Given the description of an element on the screen output the (x, y) to click on. 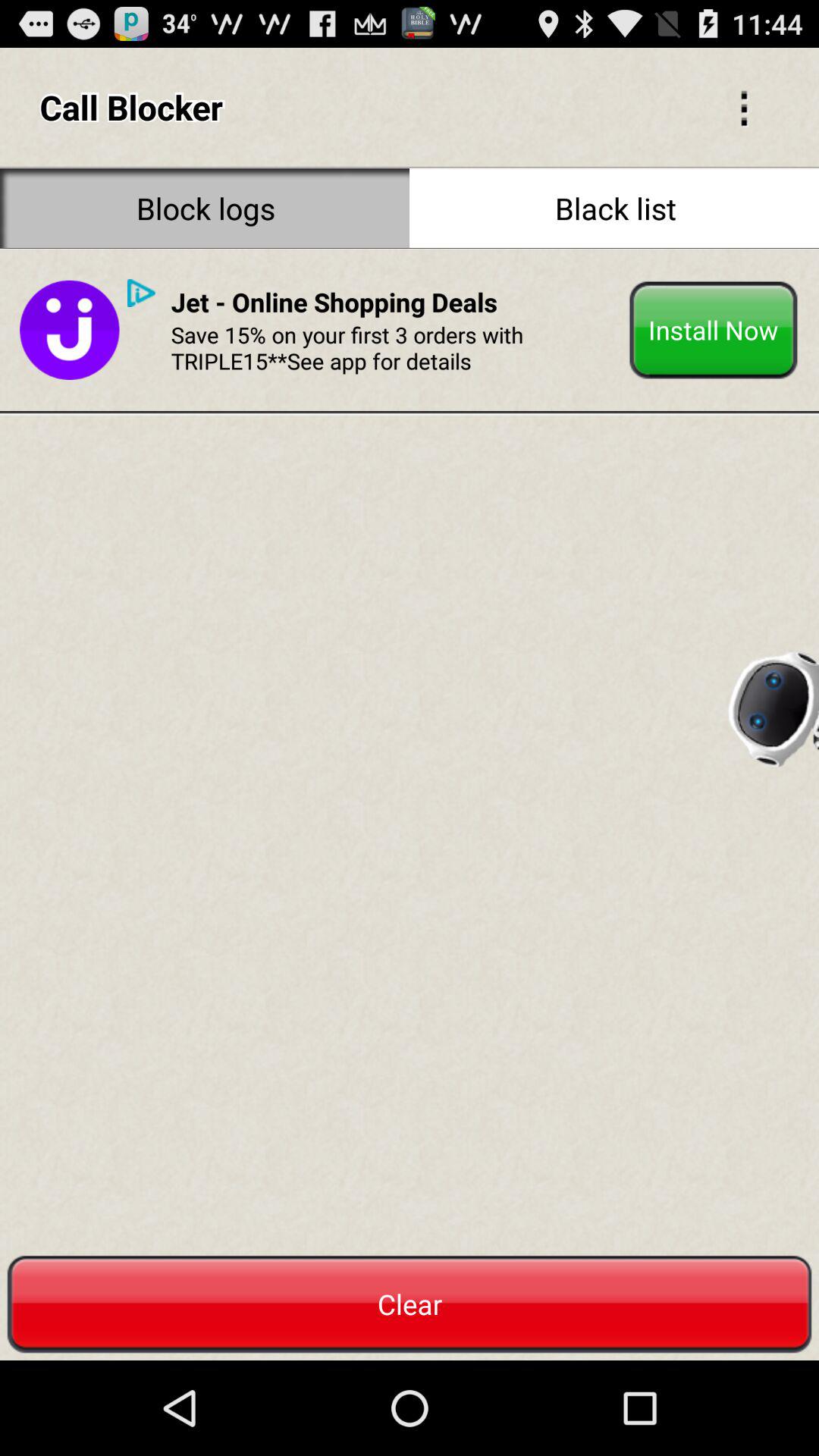
press icon above save 15 on icon (334, 301)
